Given the description of an element on the screen output the (x, y) to click on. 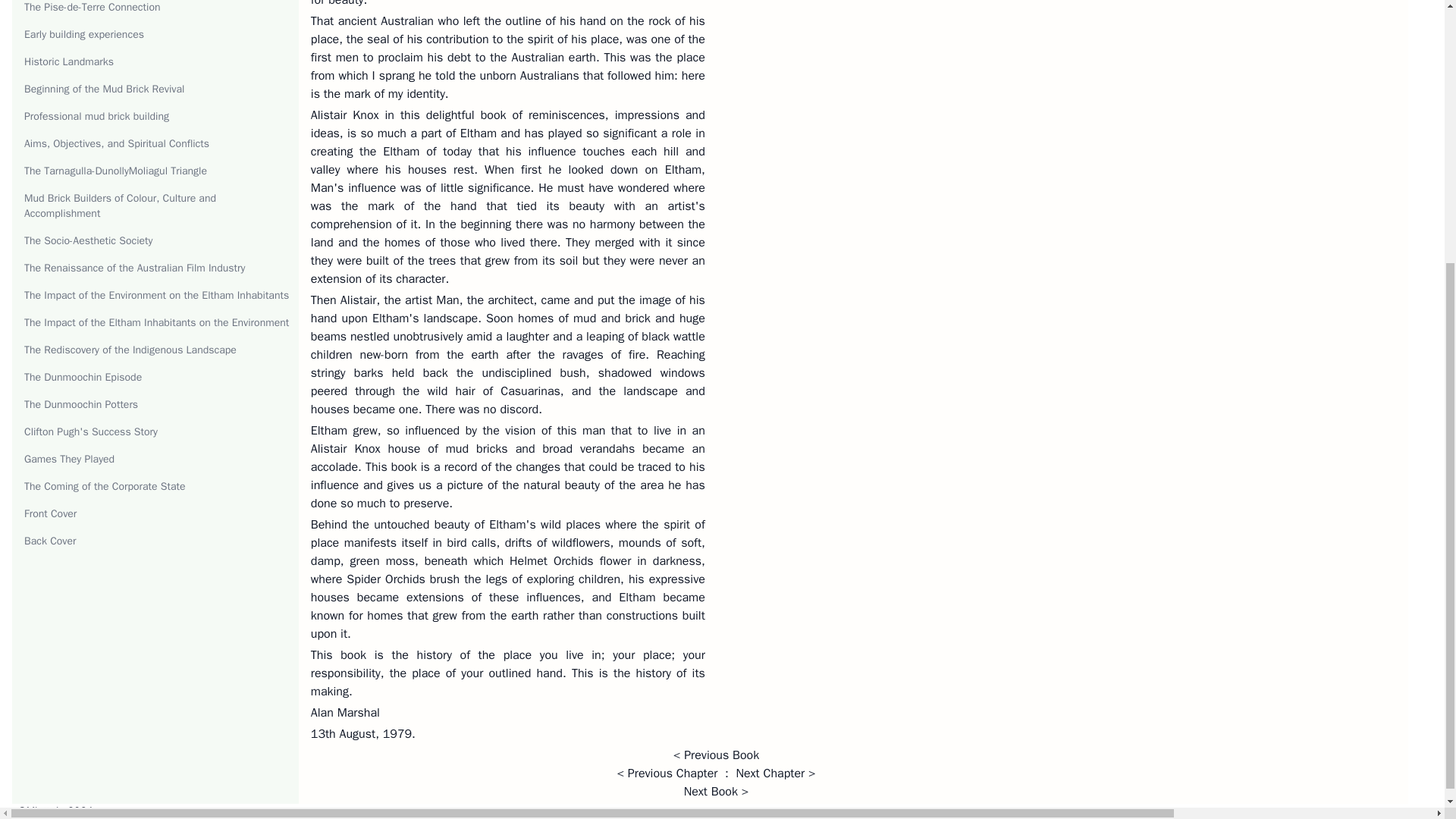
The Socio-Aesthetic Society (88, 240)
Early building experiences (84, 33)
The Dunmoochin Potters (81, 404)
The Pise-de-Terre Connection (92, 6)
The Impact of the Eltham Inhabitants on the Environment (156, 322)
Mud Brick Builders of Colour, Culture and Accomplishment (119, 205)
The Rediscovery of the Indigenous Landscape (129, 349)
Professional mud brick building (96, 115)
The Dunmoochin Episode (82, 377)
The Tarnagulla-DunollyMoliagul Triangle (115, 170)
Beginning of the Mud Brick Revival (104, 88)
The Renaissance of the Australian Film Industry (134, 267)
Aims, Objectives, and Spiritual Conflicts (116, 143)
Historic Landmarks (68, 61)
Clifton Pugh's Success Story (90, 431)
